Given the description of an element on the screen output the (x, y) to click on. 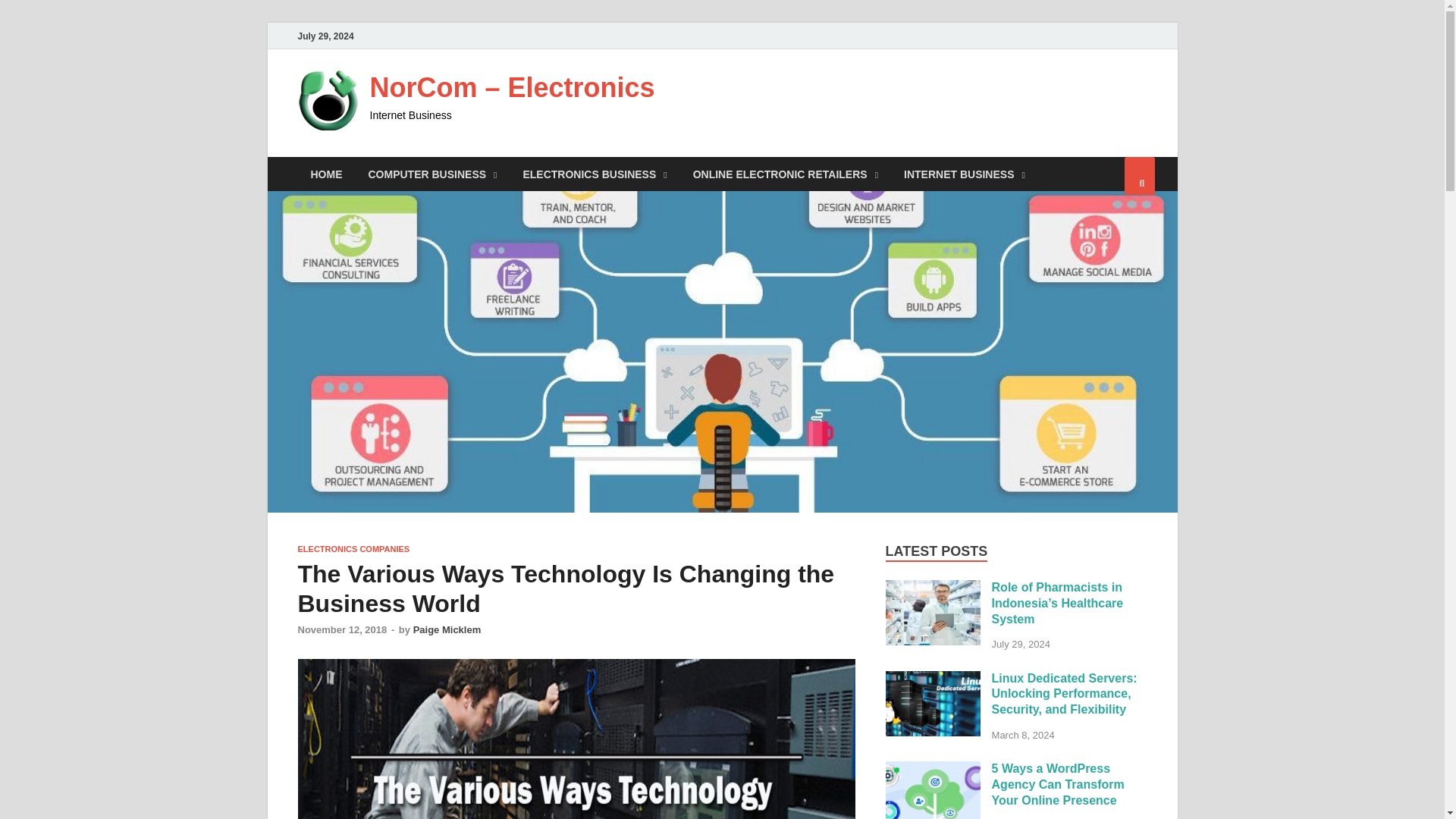
HOME (326, 173)
INTERNET BUSINESS (964, 173)
COMPUTER BUSINESS (432, 173)
ELECTRONICS BUSINESS (594, 173)
5 Ways a WordPress Agency Can Transform Your Online Presence (932, 769)
ONLINE ELECTRONIC RETAILERS (785, 173)
